Given the description of an element on the screen output the (x, y) to click on. 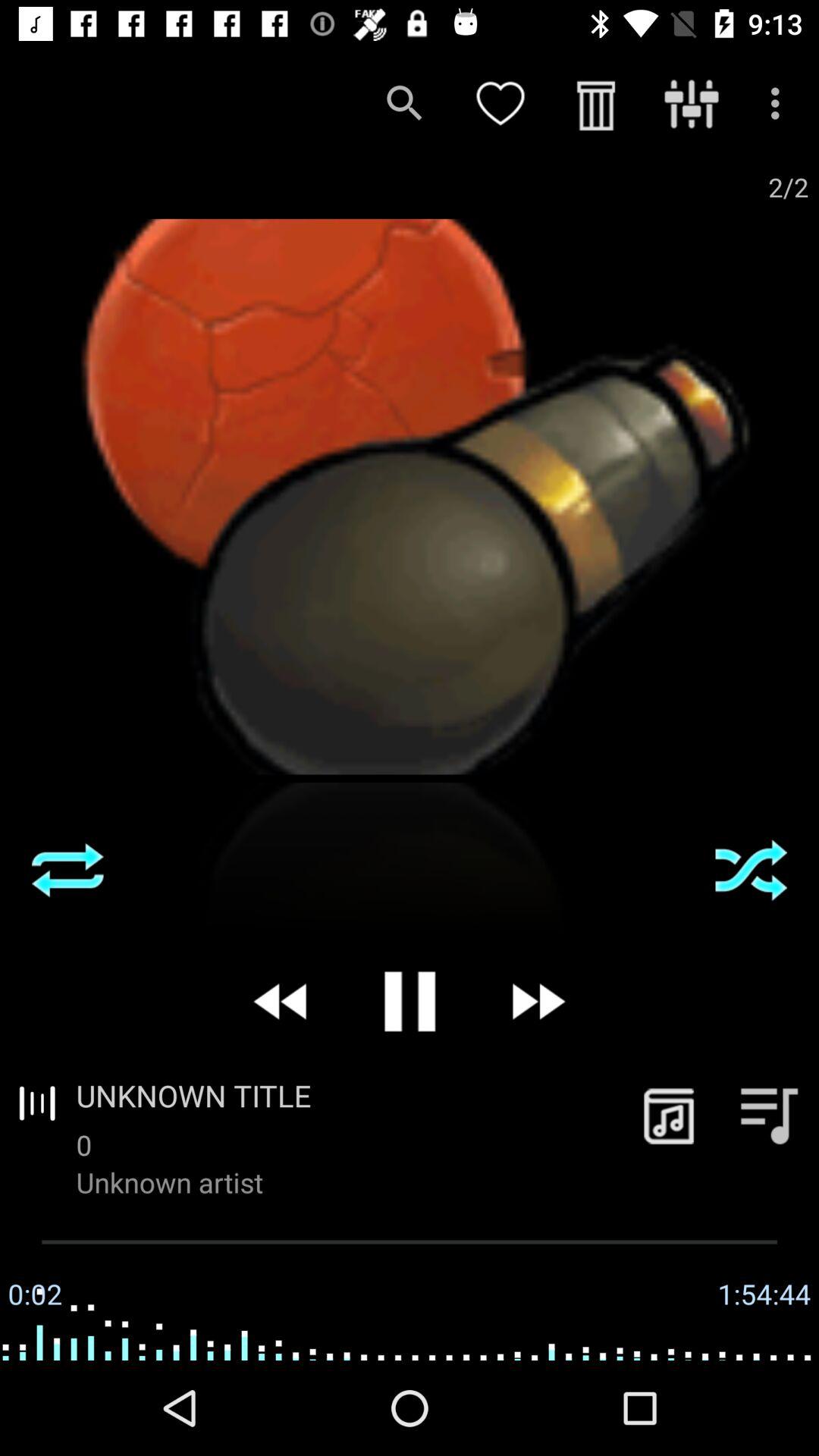
press icon above unknown title item (536, 1001)
